Given the description of an element on the screen output the (x, y) to click on. 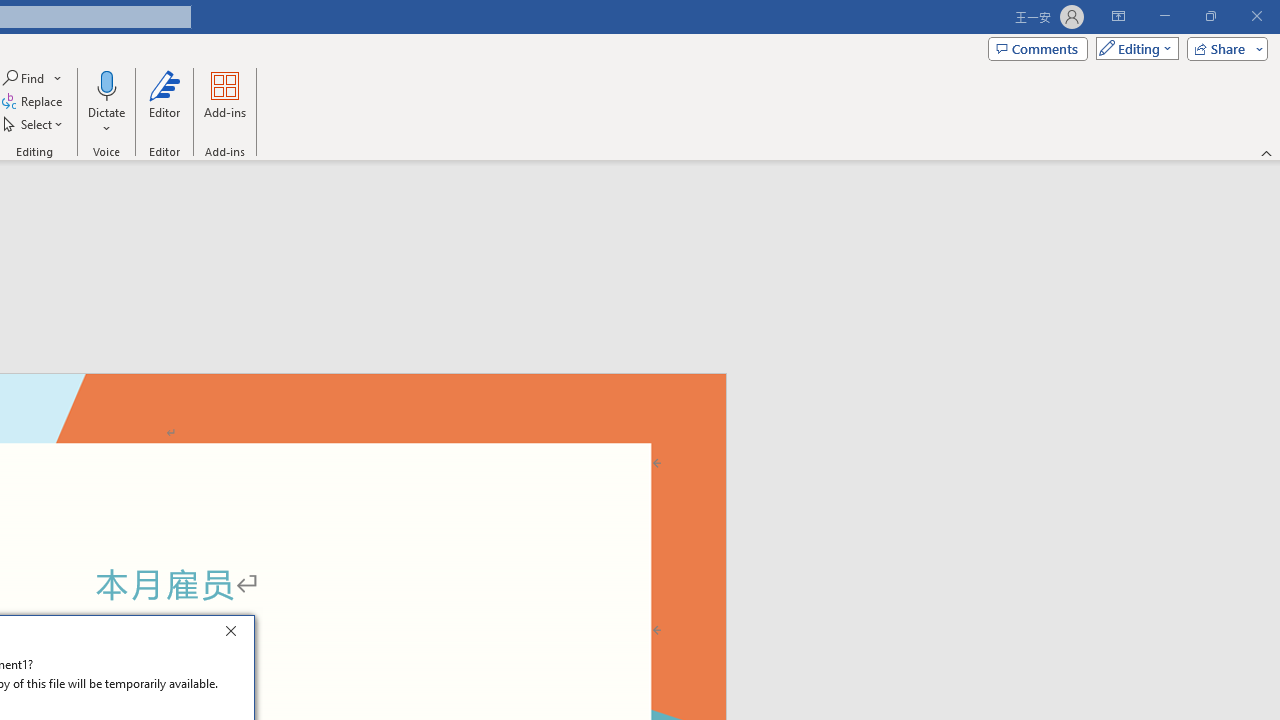
Ribbon Display Options (1118, 16)
Close (236, 633)
Mode (1133, 47)
Comments (1038, 48)
Minimize (1164, 16)
Editor (164, 102)
More Options (106, 121)
Collapse the Ribbon (1267, 152)
Share (1223, 48)
Restore Down (1210, 16)
Dictate (106, 102)
Dictate (106, 84)
